Given the description of an element on the screen output the (x, y) to click on. 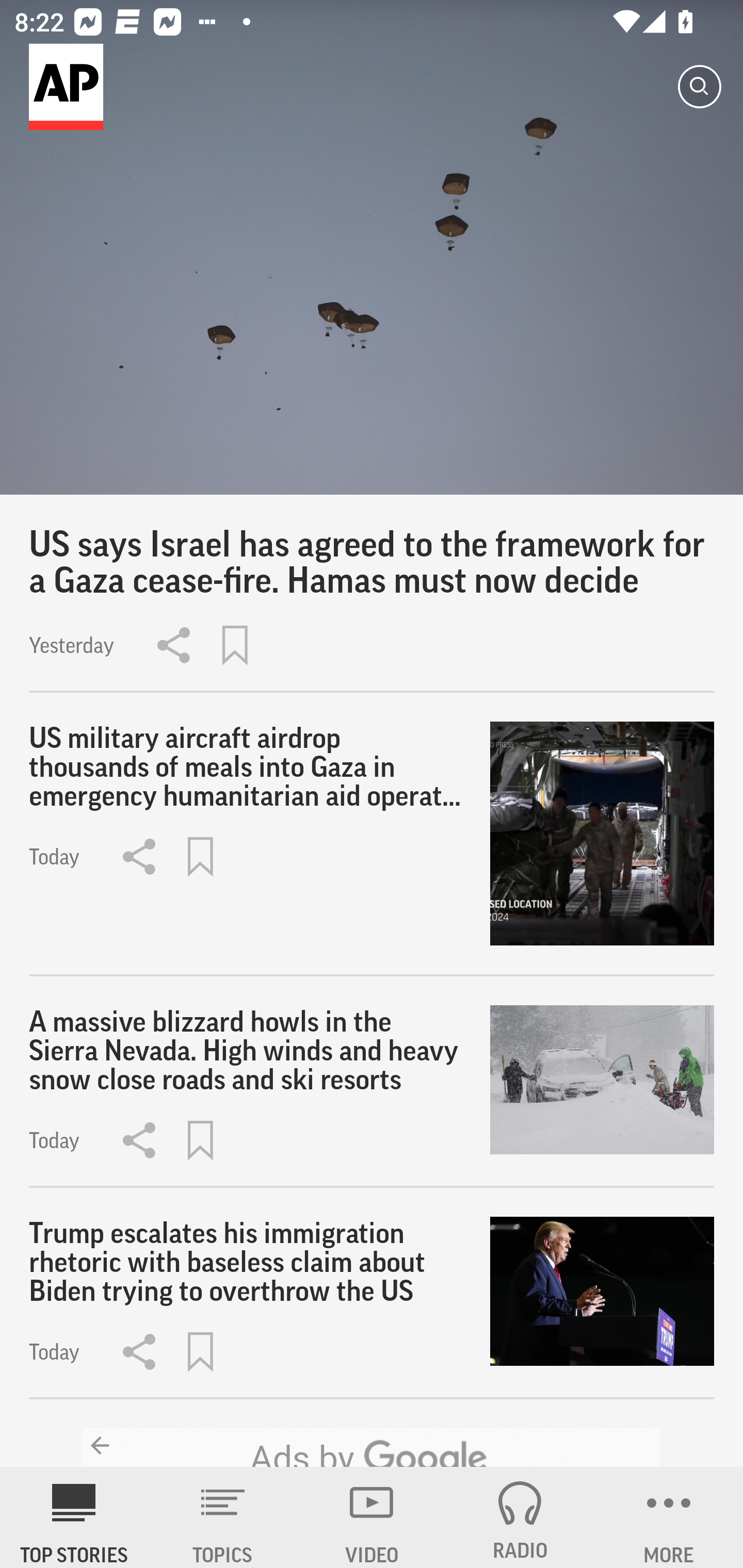
AP News TOP STORIES (74, 1517)
TOPICS (222, 1517)
VIDEO (371, 1517)
RADIO (519, 1517)
MORE (668, 1517)
